Given the description of an element on the screen output the (x, y) to click on. 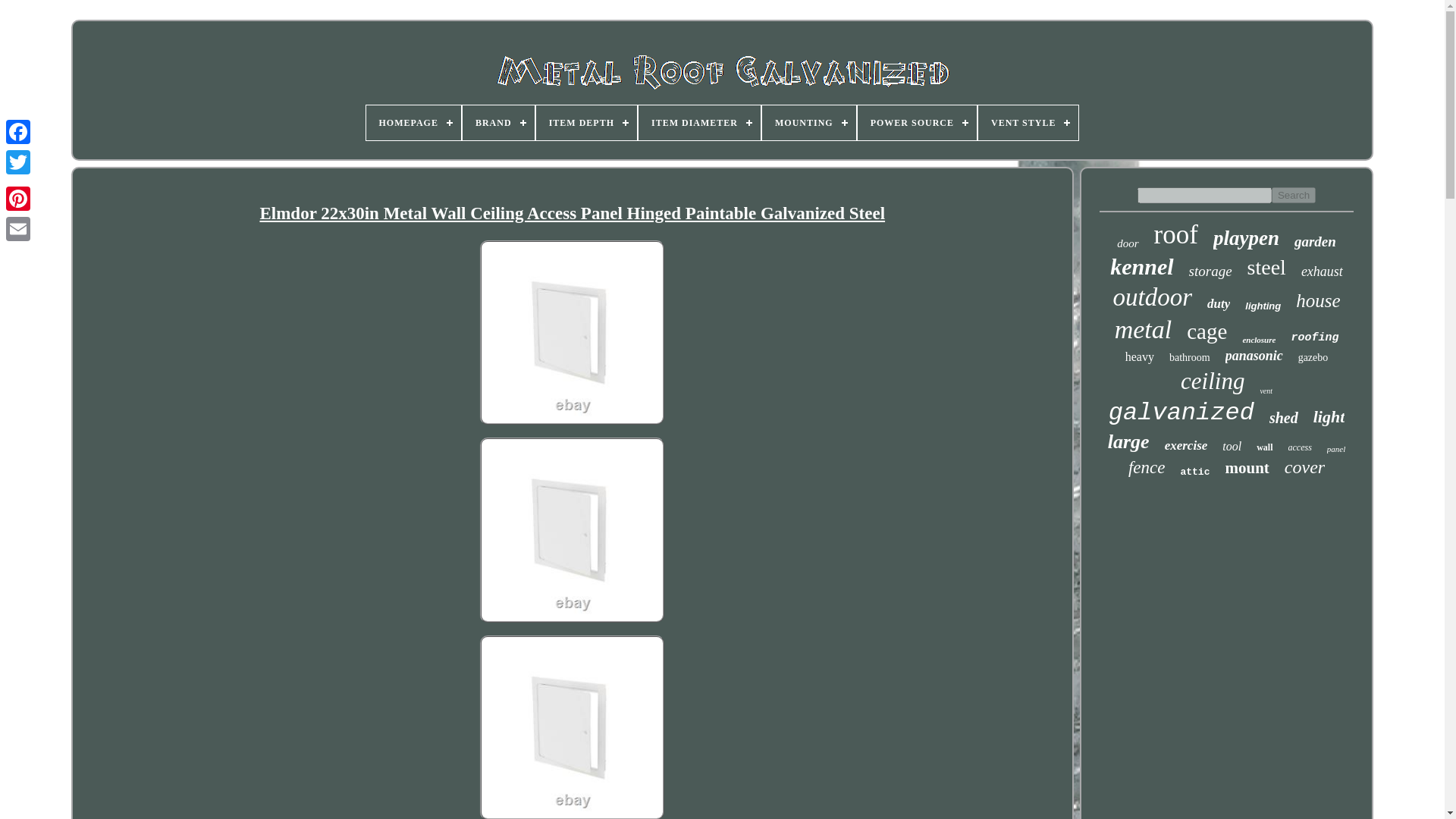
ITEM DEPTH (586, 122)
Search (1293, 195)
BRAND (498, 122)
HOMEPAGE (412, 122)
